Given the description of an element on the screen output the (x, y) to click on. 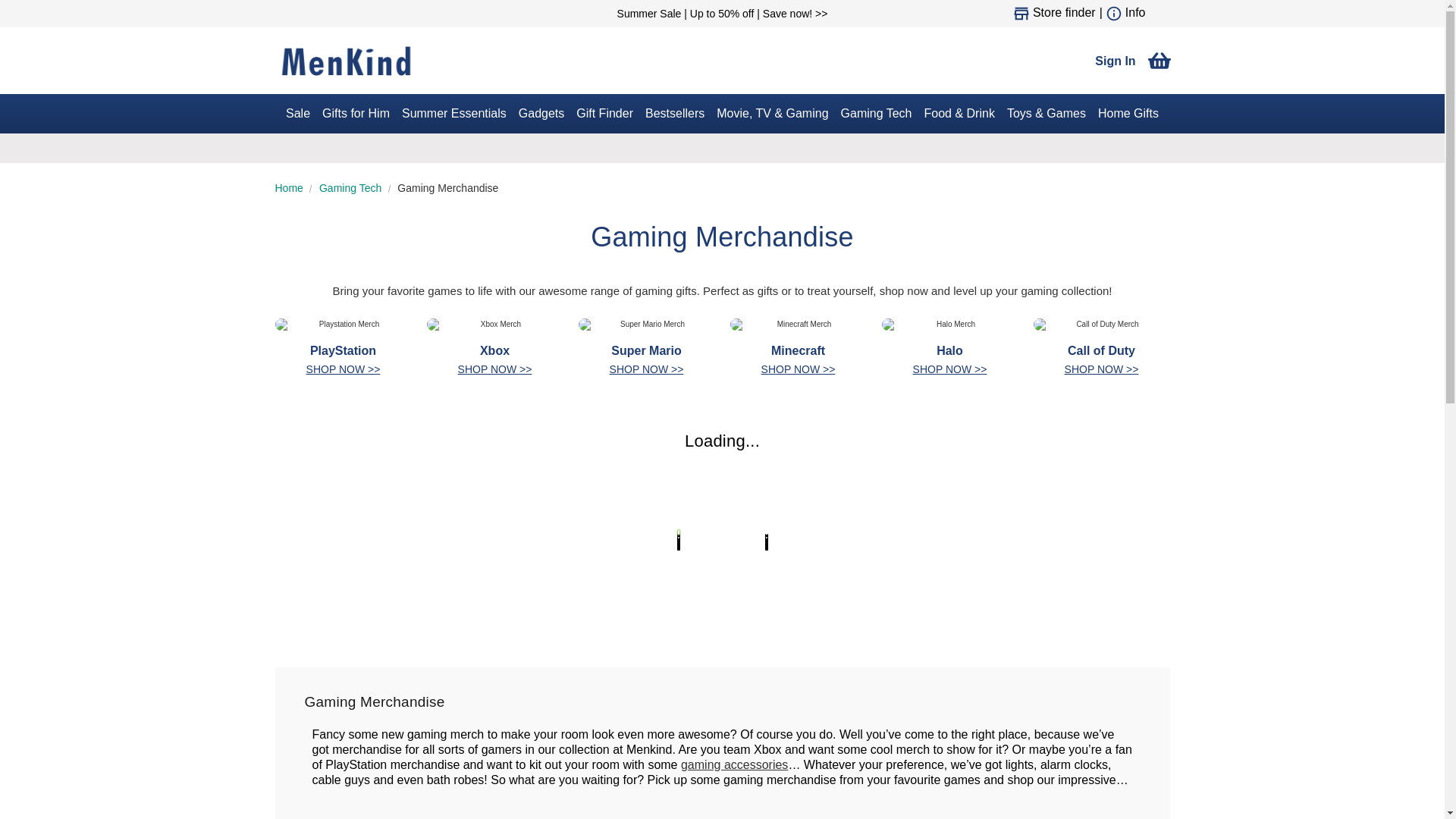
Sign In (1114, 60)
Menkind (346, 60)
Store finder (1064, 13)
Info (1135, 13)
